Given the description of an element on the screen output the (x, y) to click on. 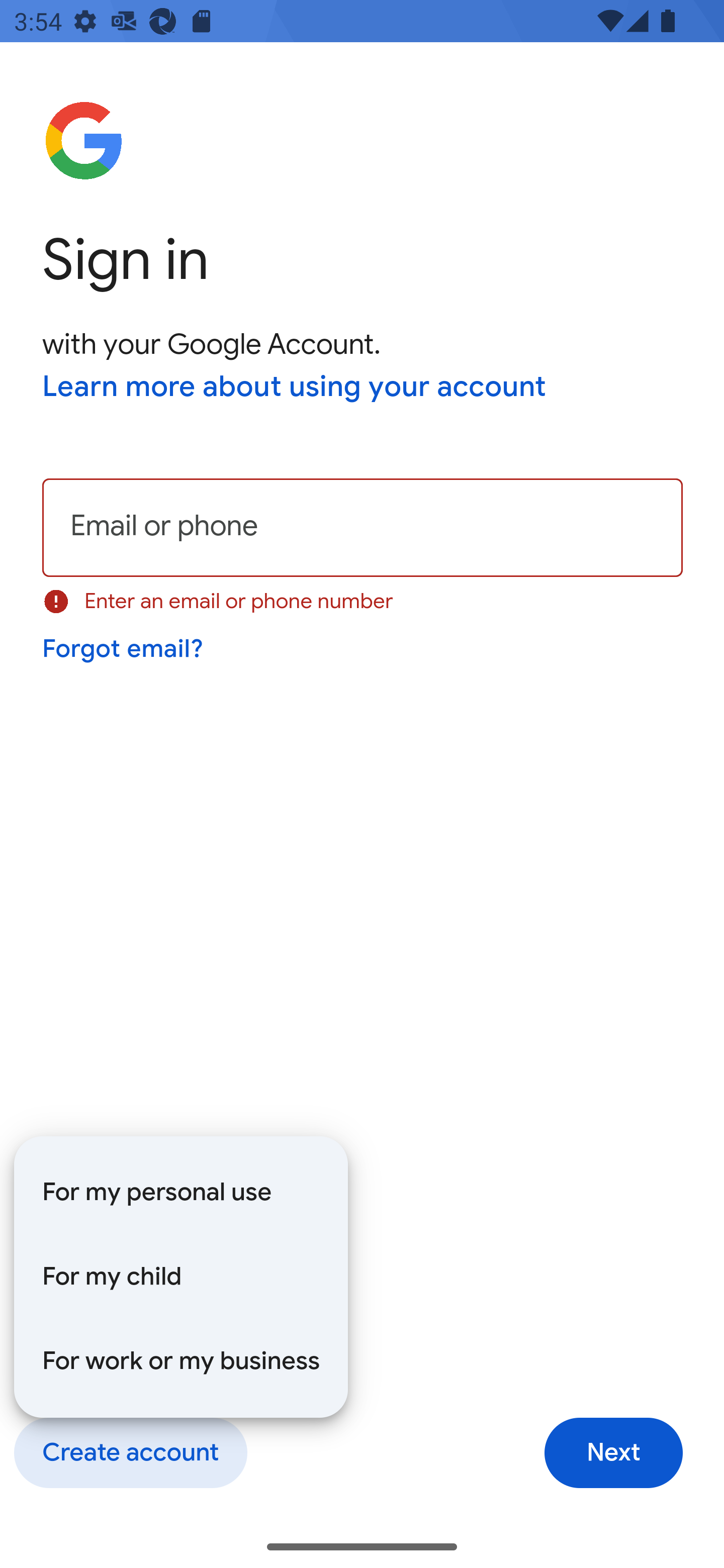
Learn more about using your account (294, 388)
Forgot email? (123, 648)
Next (613, 1453)
Create account (129, 1453)
